Given the description of an element on the screen output the (x, y) to click on. 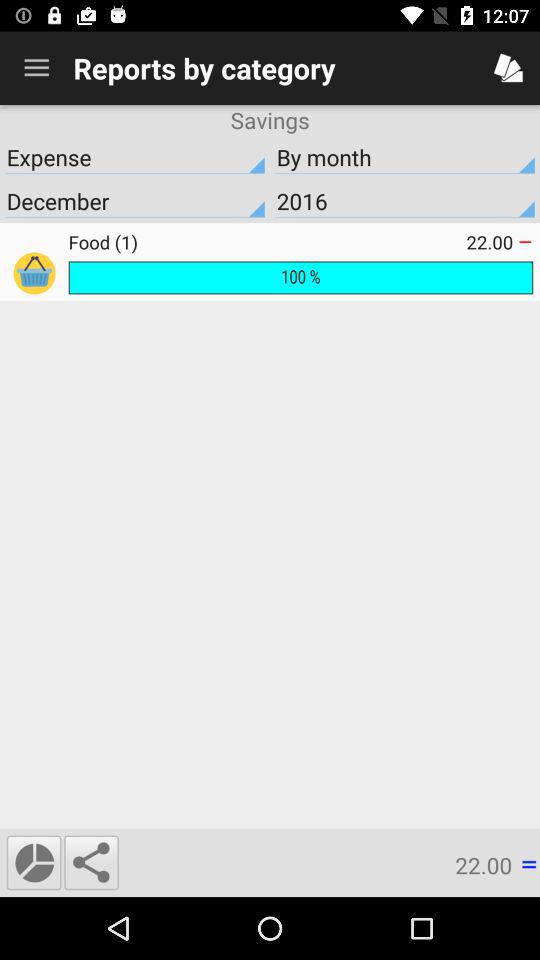
click item to the right of the reports by category icon (508, 67)
